Given the description of an element on the screen output the (x, y) to click on. 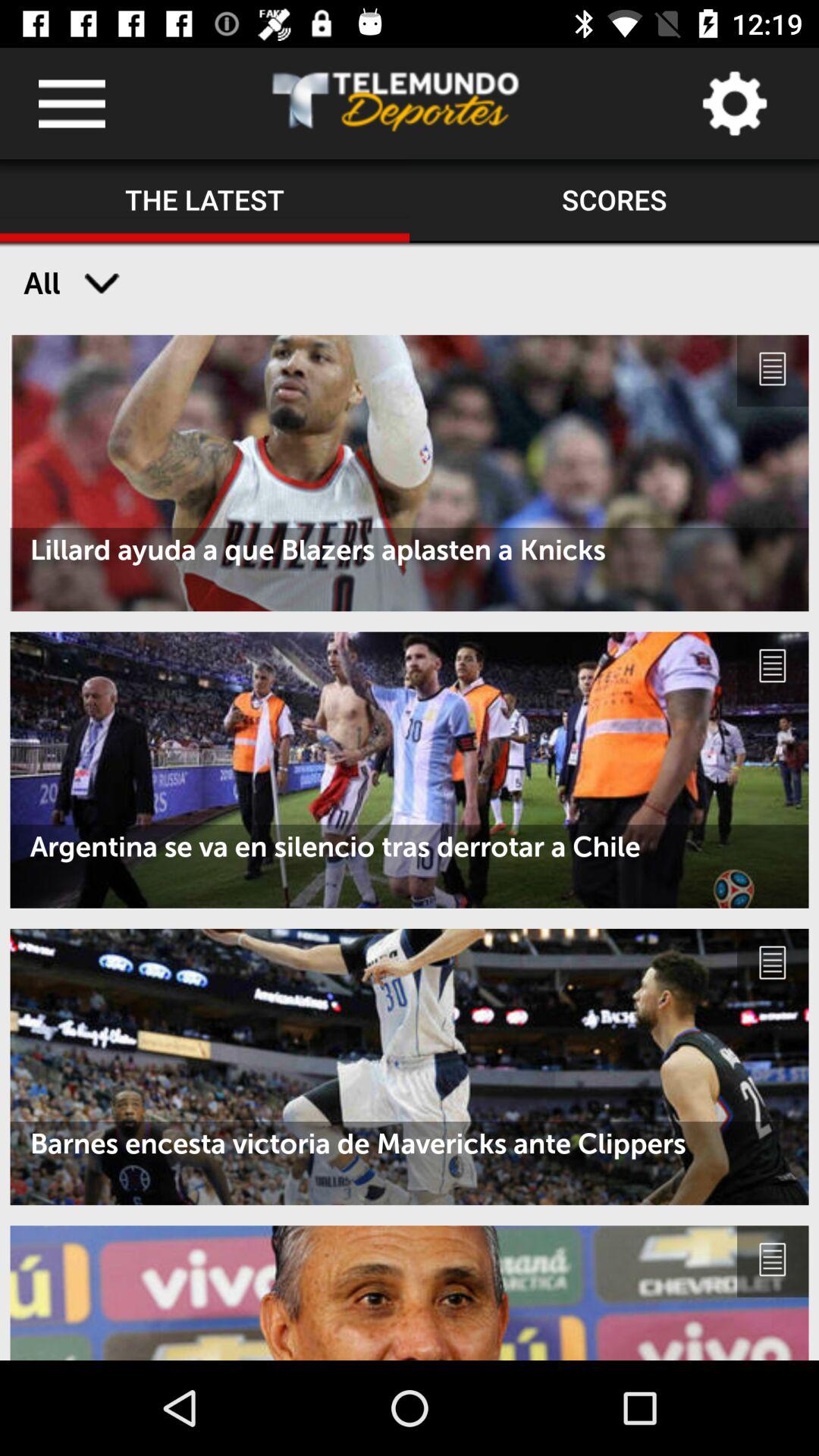
launch icon above the latest (71, 103)
